Given the description of an element on the screen output the (x, y) to click on. 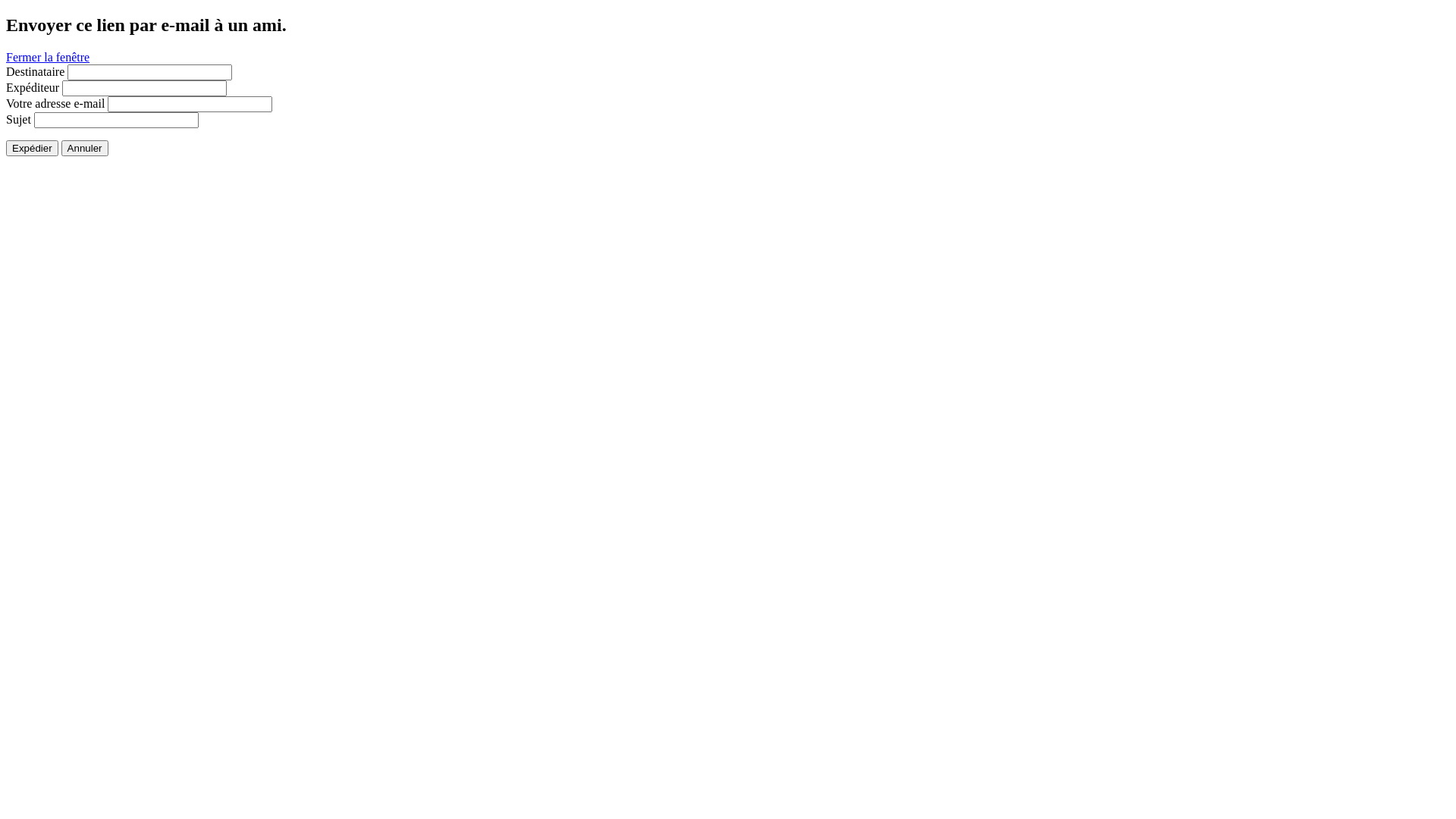
Annuler Element type: text (84, 148)
